Given the description of an element on the screen output the (x, y) to click on. 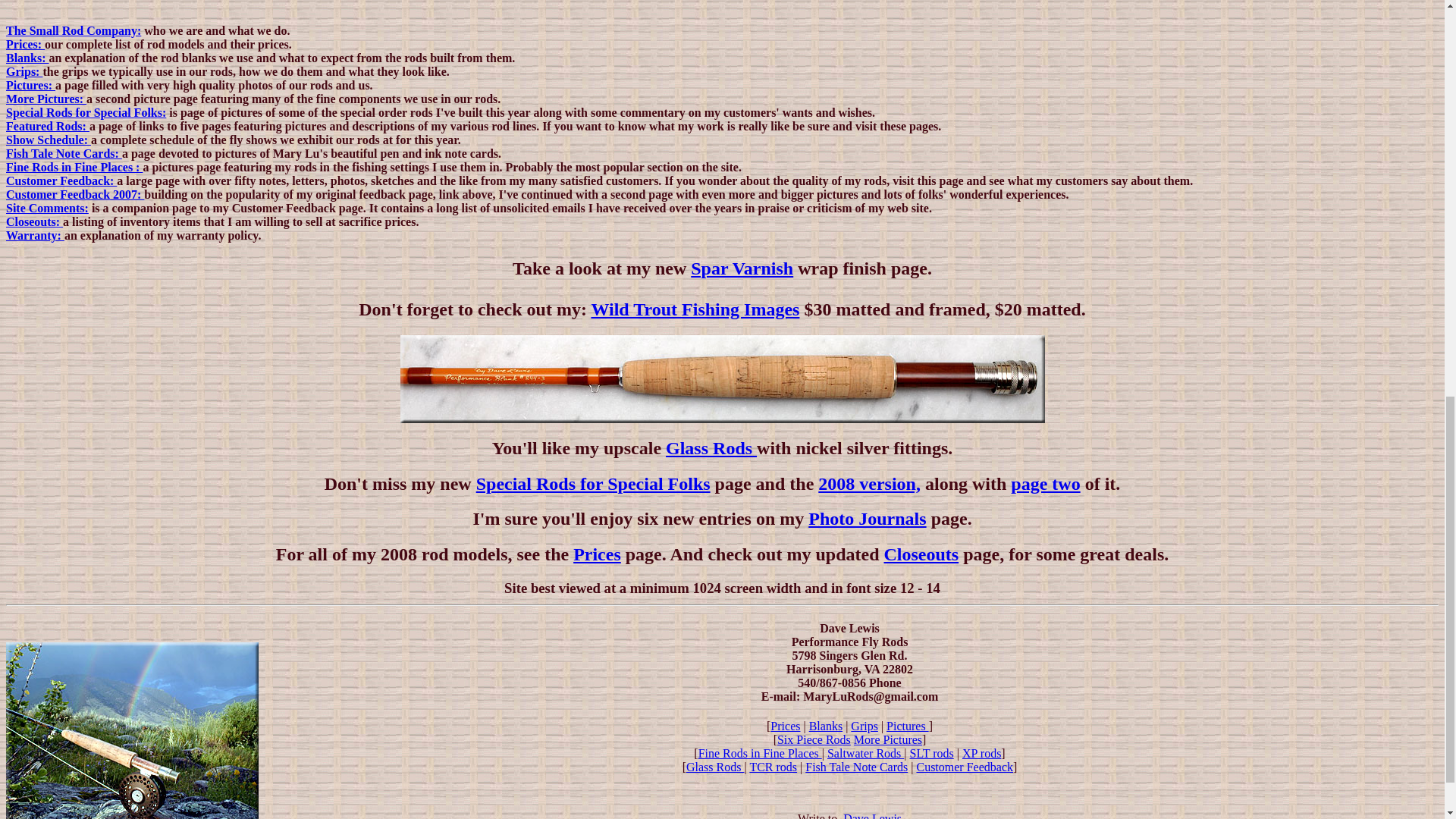
Special Rods for Special Folks: (85, 112)
Show Schedule: (47, 139)
Closeouts (921, 554)
Fine Rods in Fine Places : (73, 166)
More Pictures (887, 739)
Pictures: (30, 84)
Fine Rods in Fine Places (760, 753)
Fish Tale Note Cards: (63, 153)
Special Rods for Special Folks (593, 483)
XP rods (981, 753)
